Given the description of an element on the screen output the (x, y) to click on. 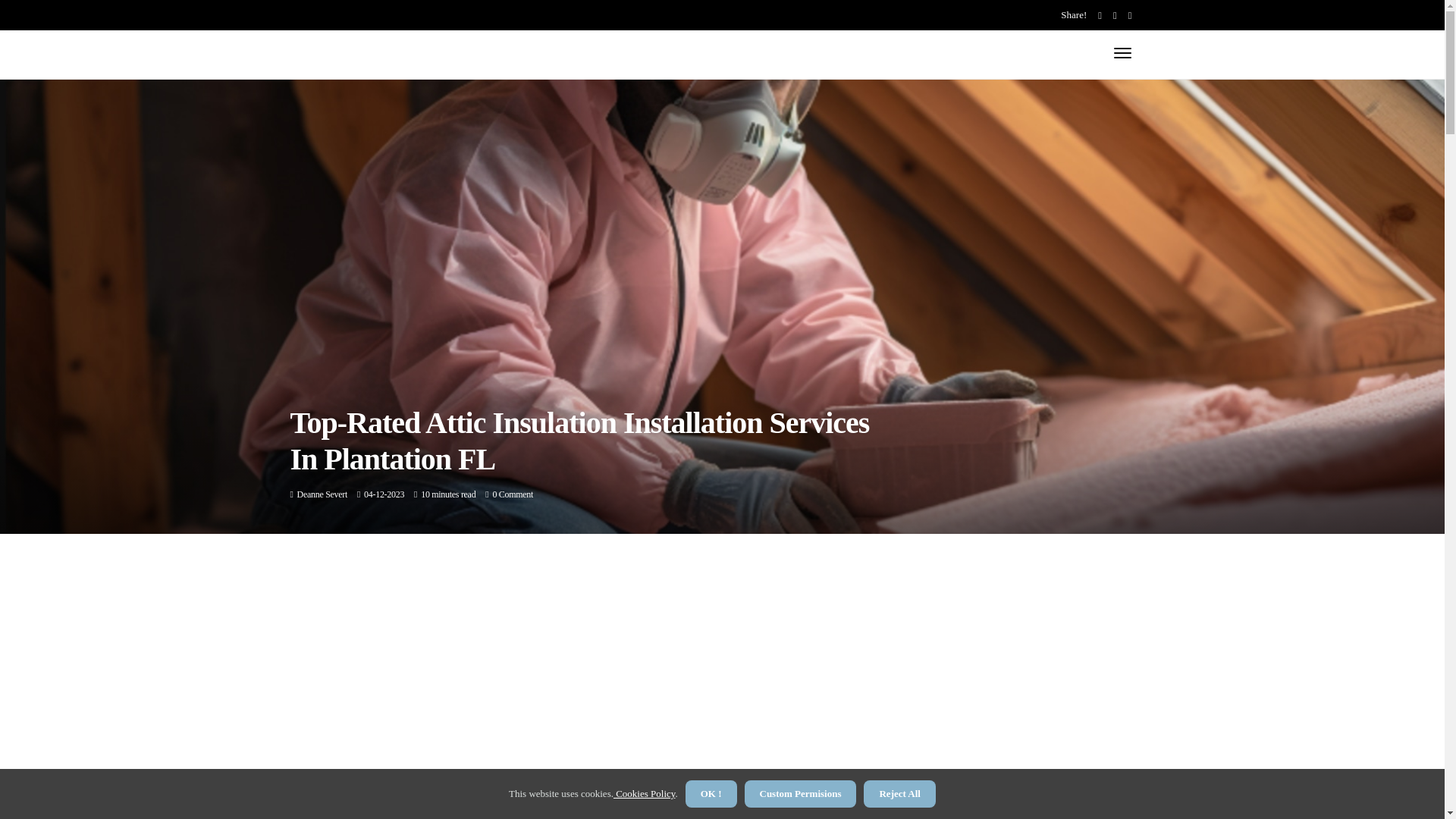
Posts by Deanne Severt (322, 493)
0 Comment (512, 493)
Deanne Severt (322, 493)
